Given the description of an element on the screen output the (x, y) to click on. 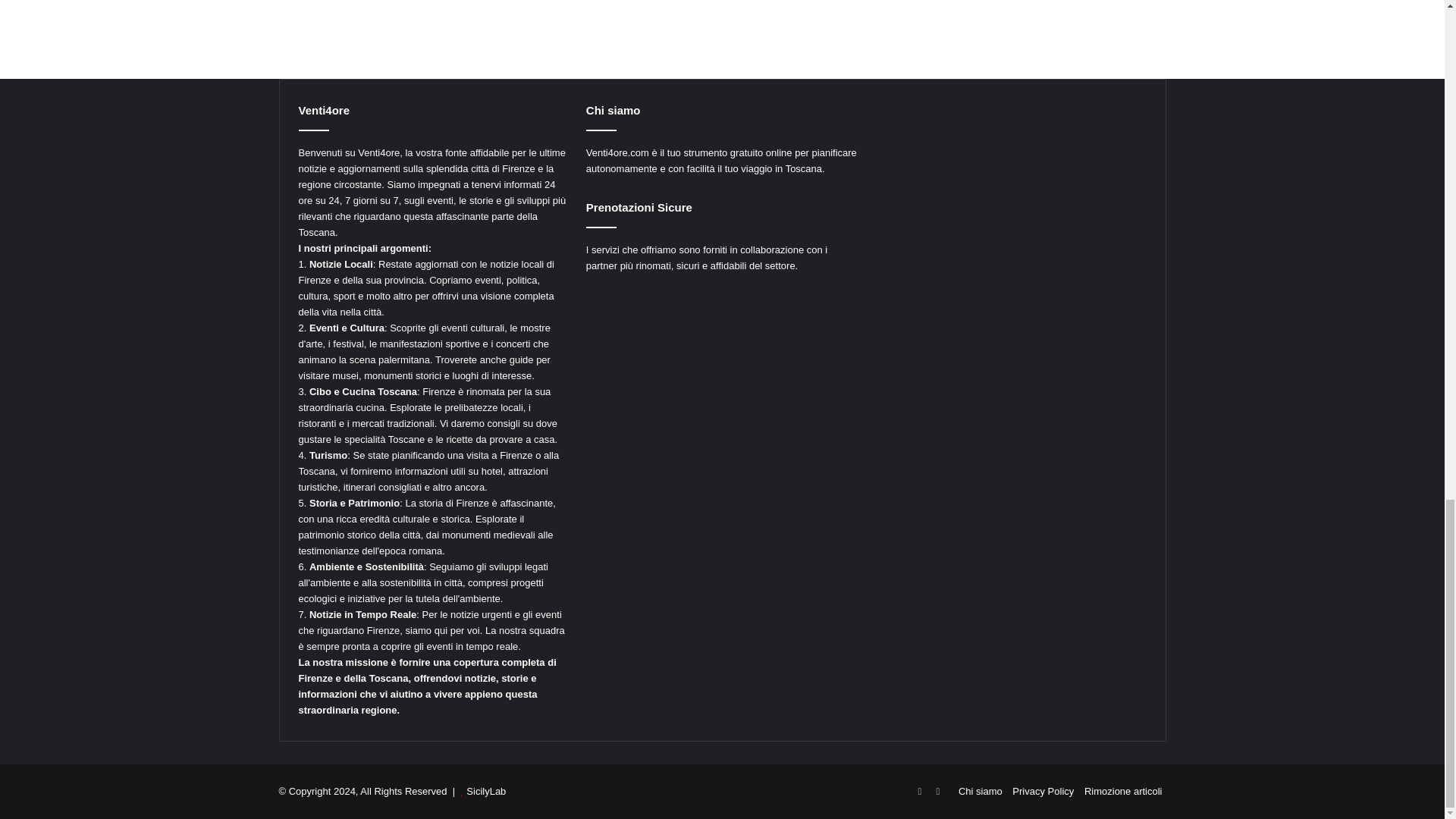
SicilyLab (485, 790)
Chi siamo (980, 790)
Privacy Policy (1042, 790)
Facebook (919, 791)
Rimozione articoli (1122, 790)
